Given the description of an element on the screen output the (x, y) to click on. 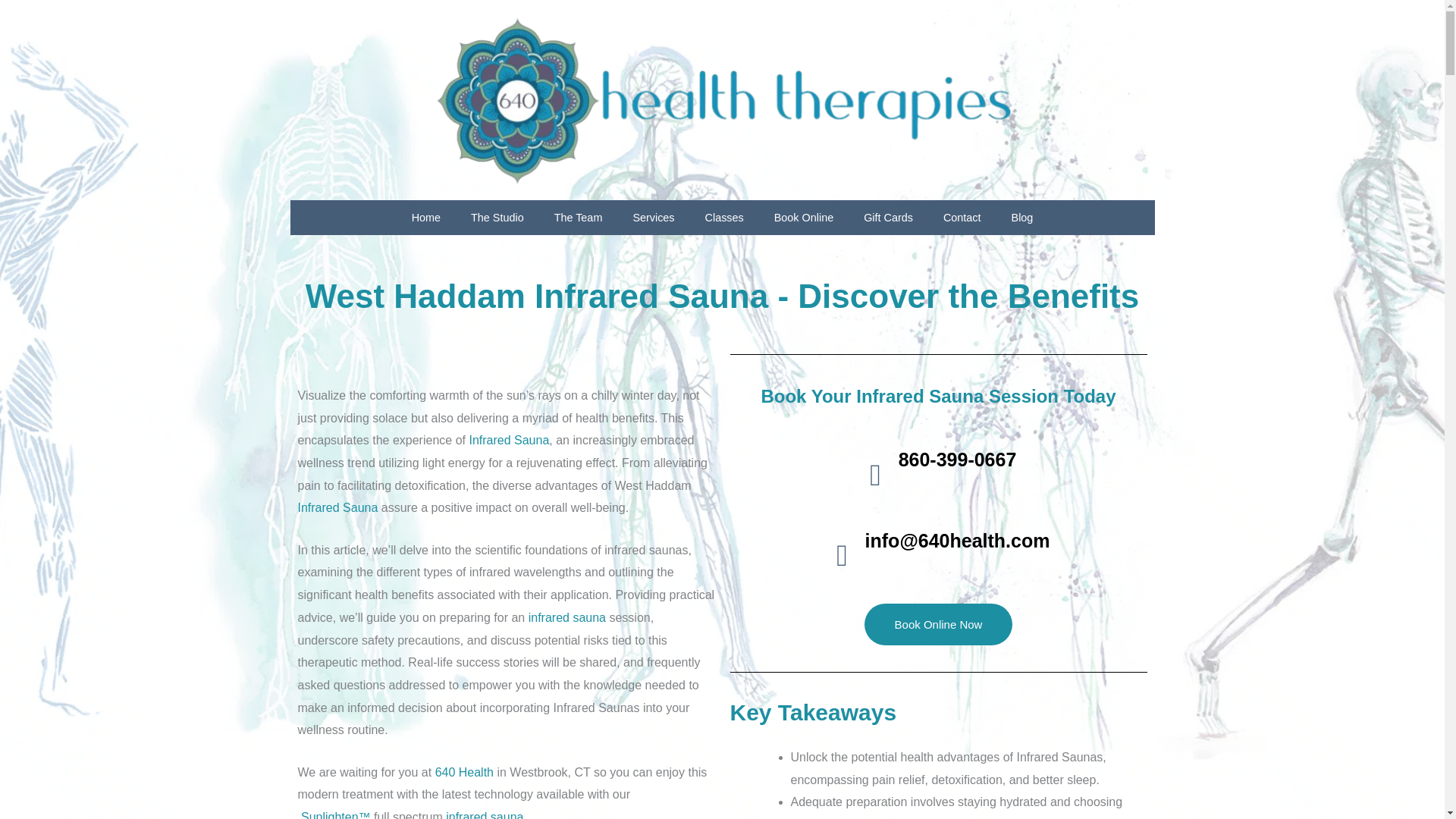
Learn More! (337, 507)
The Team (577, 217)
Health Therapies (464, 771)
Contact (961, 217)
Learn More! (483, 814)
The Studio (496, 217)
Services (652, 217)
Learn More! (508, 440)
Learn More! (566, 617)
Home (425, 217)
